Given the description of an element on the screen output the (x, y) to click on. 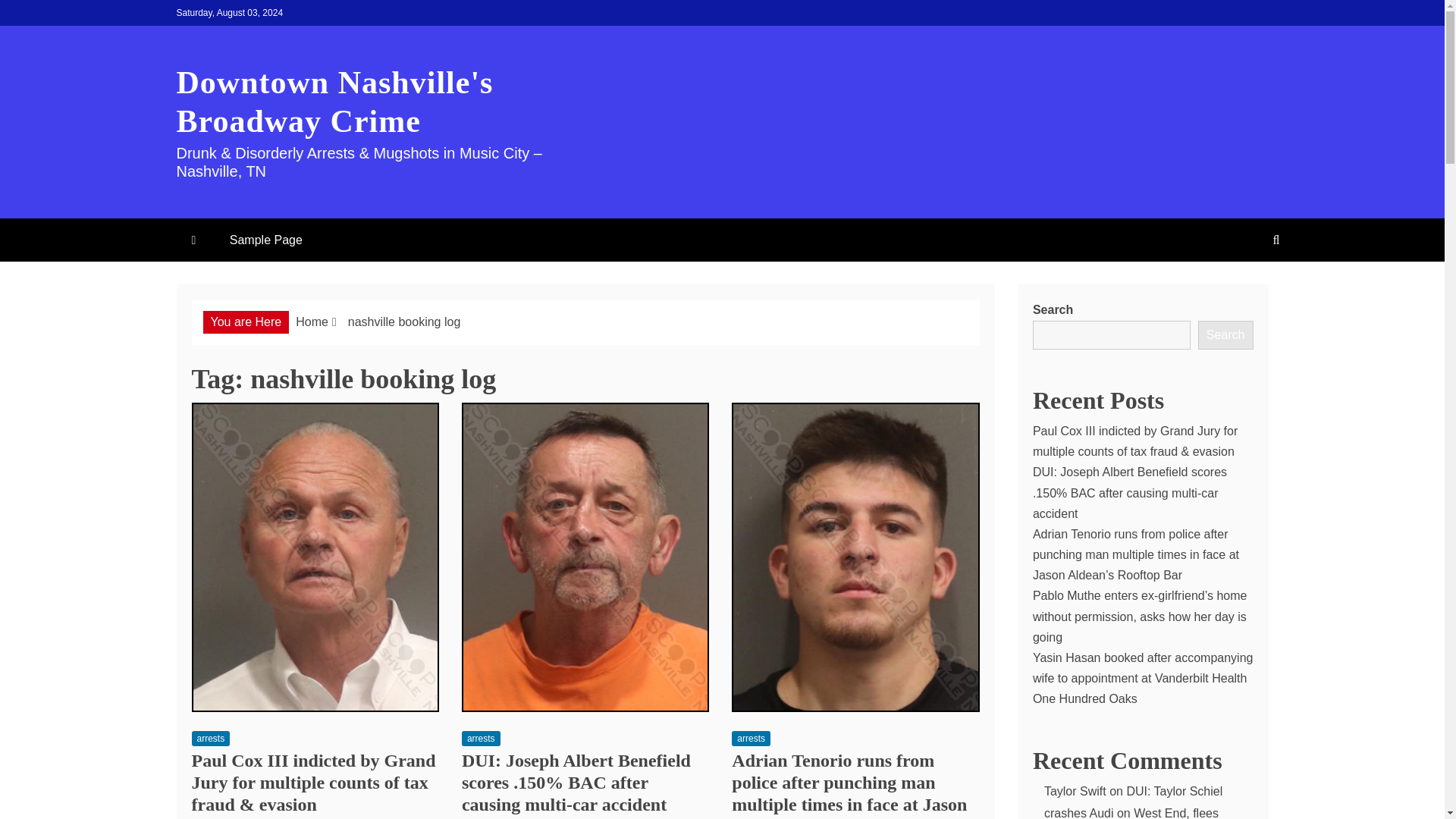
Downtown Nashville's Broadway Crime (334, 101)
arrests (480, 738)
arrests (210, 738)
arrests (751, 738)
Home (312, 321)
Sample Page (265, 239)
